Given the description of an element on the screen output the (x, y) to click on. 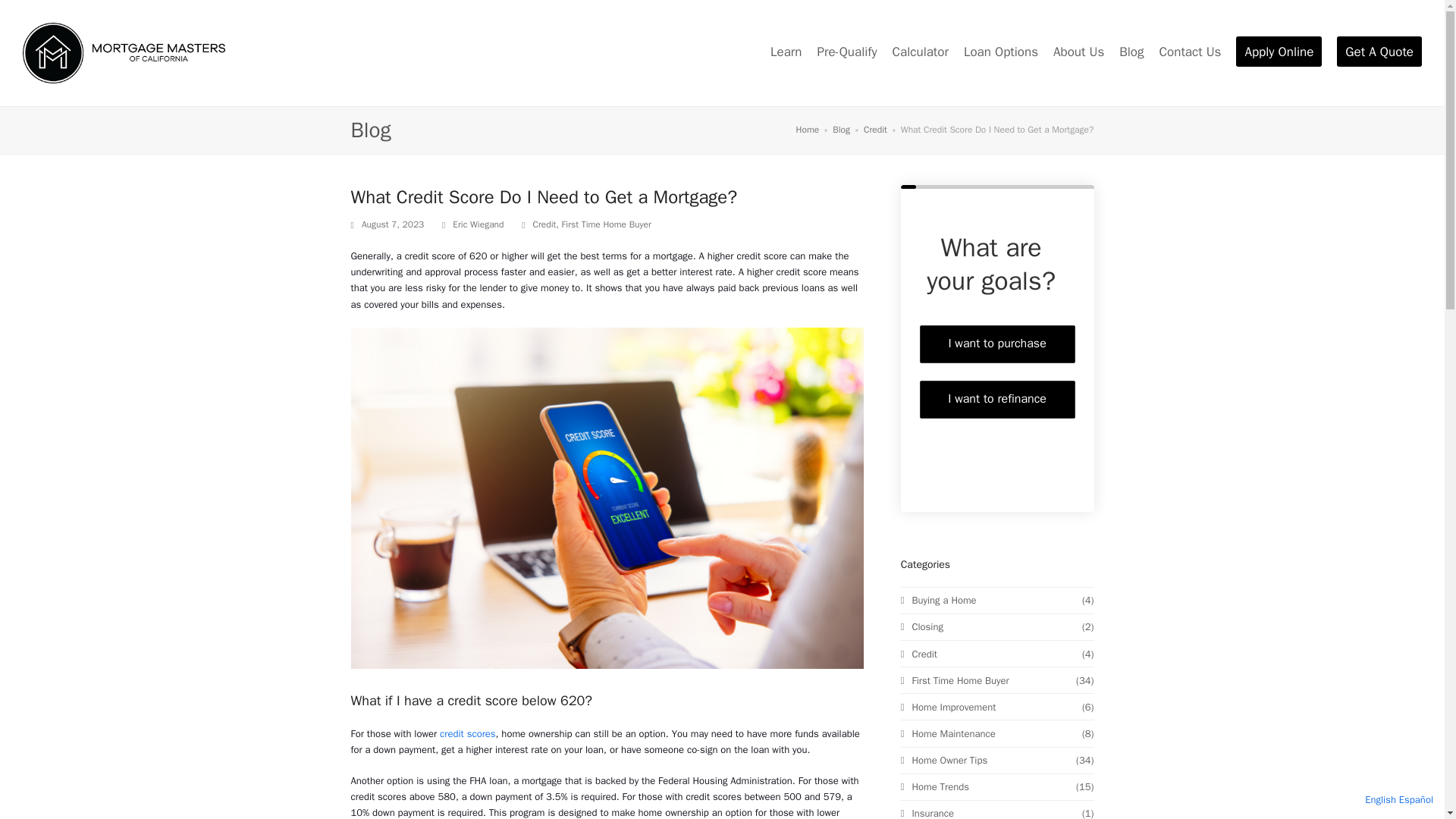
Eric Wiegand (477, 224)
About Us (1077, 53)
Apply Online (1279, 53)
Credit (874, 129)
Loan Options (1000, 53)
credit scores (467, 733)
Loan Options (1000, 53)
Apply Online (1279, 53)
Pre-Qualify (846, 53)
Posts by Eric Wiegand (477, 224)
Blog (841, 129)
Pre-Qualify (846, 53)
Home (807, 129)
Get A Quote (1379, 53)
Get A Quote (1379, 53)
